Given the description of an element on the screen output the (x, y) to click on. 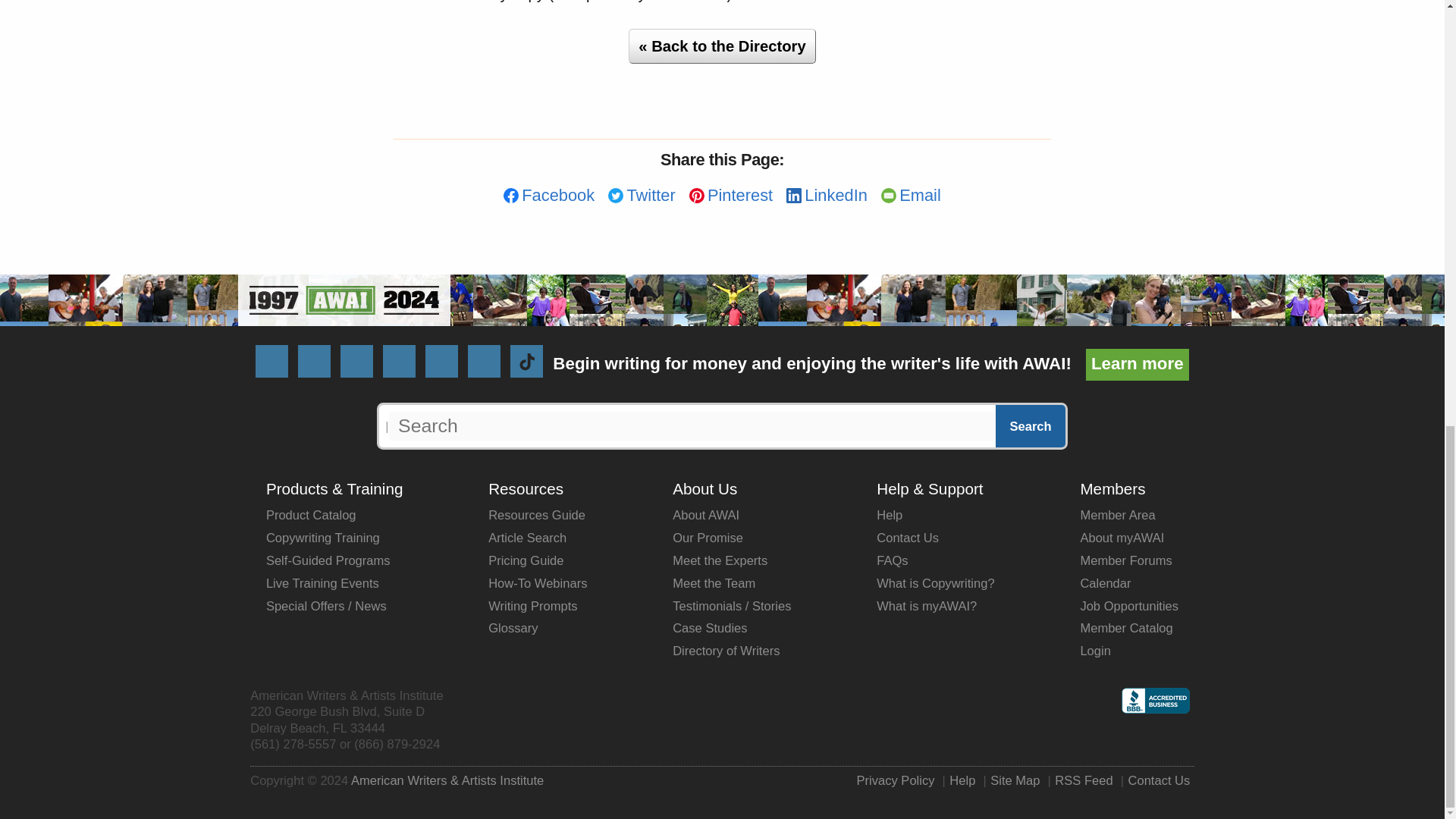
Better Business Bureau Accredited Business (1155, 708)
Better Business Bureau Accredited Business (1155, 700)
